Given the description of an element on the screen output the (x, y) to click on. 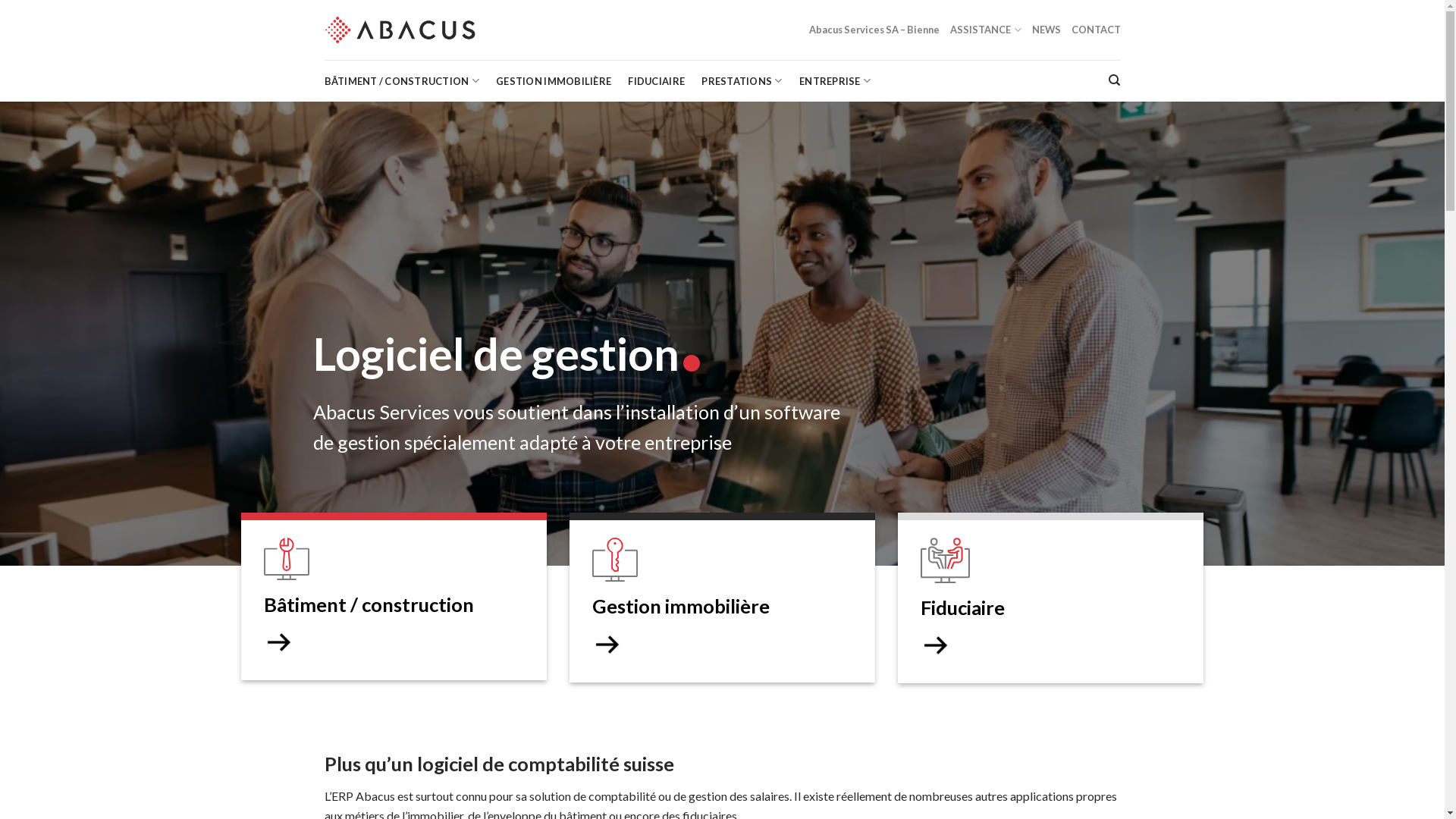
ENTREPRISE Element type: text (834, 80)
FIDUCIAIRE Element type: text (655, 80)
Fiduciaire Element type: text (1050, 597)
ASSISTANCE Element type: text (985, 29)
NEWS Element type: text (1045, 29)
PRESTATIONS Element type: text (741, 80)
CONTACT Element type: text (1095, 29)
